Given the description of an element on the screen output the (x, y) to click on. 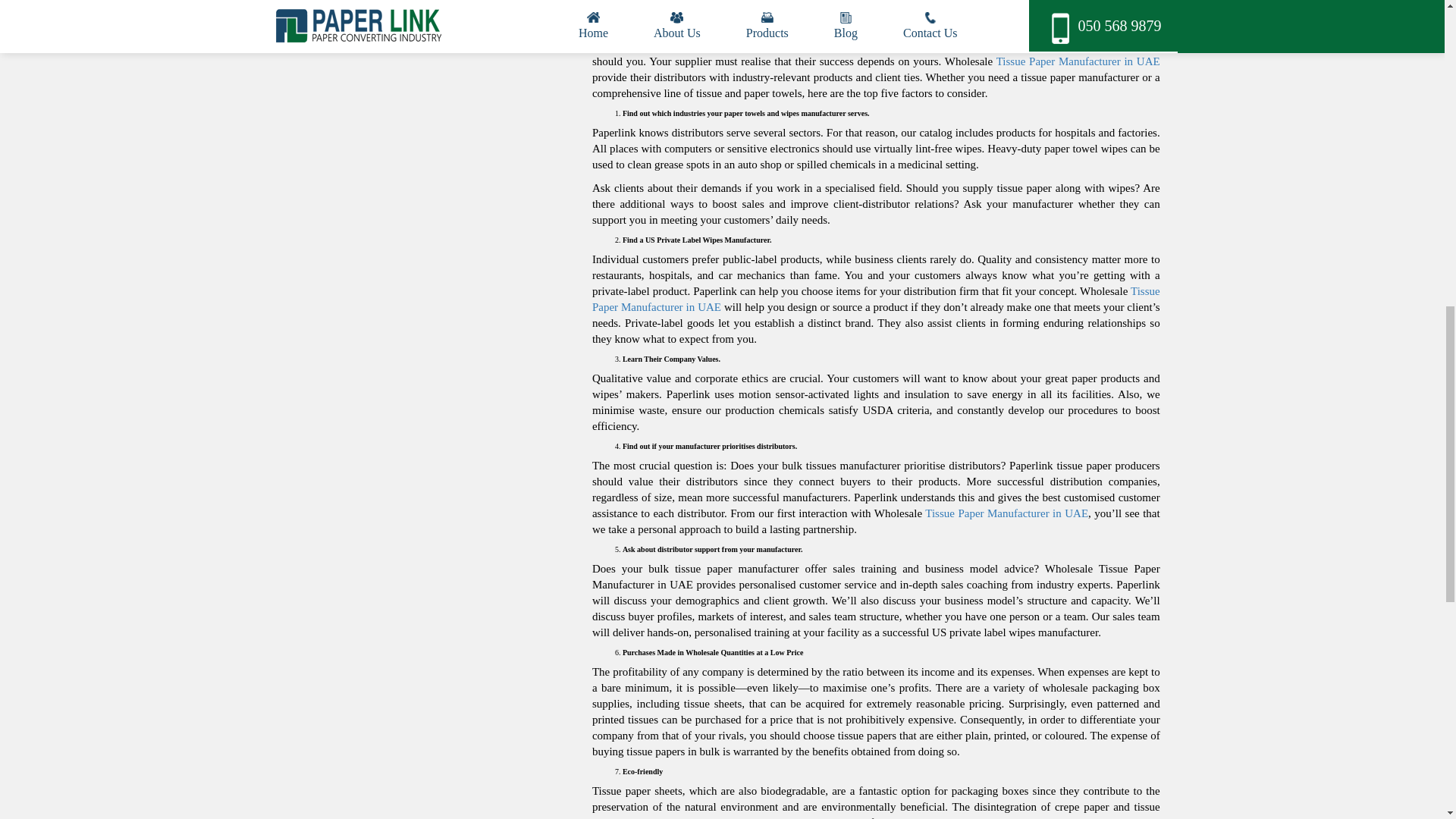
Tissue Paper Manufacturer in UAE (1077, 797)
